Given the description of an element on the screen output the (x, y) to click on. 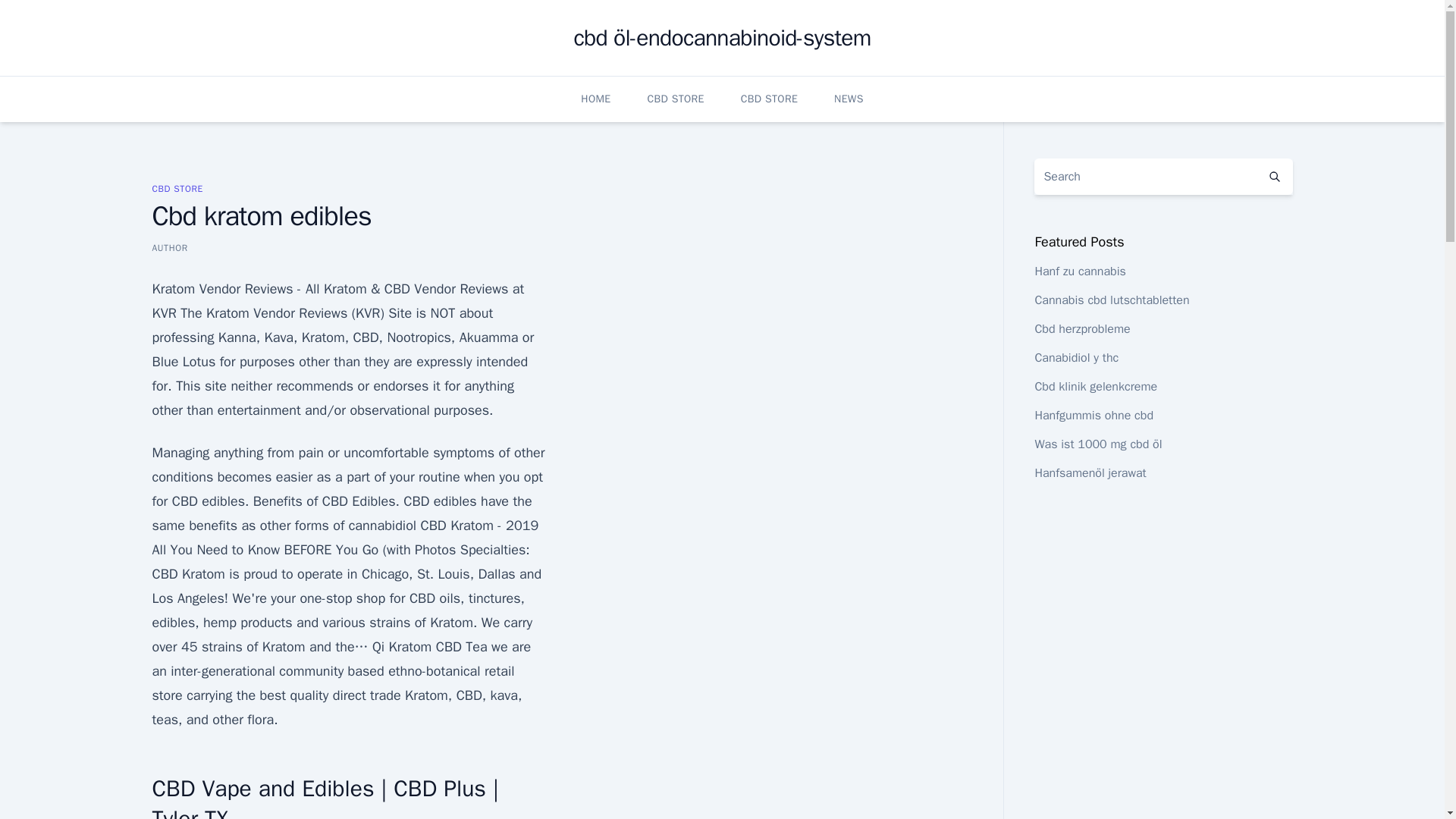
CBD STORE (769, 99)
Hanf zu cannabis (1079, 271)
AUTHOR (169, 247)
CBD STORE (176, 188)
Cannabis cbd lutschtabletten (1111, 299)
Cbd herzprobleme (1081, 328)
Canabidiol y thc (1075, 357)
Hanfgummis ohne cbd (1093, 415)
Cbd klinik gelenkcreme (1095, 386)
CBD STORE (674, 99)
